Given the description of an element on the screen output the (x, y) to click on. 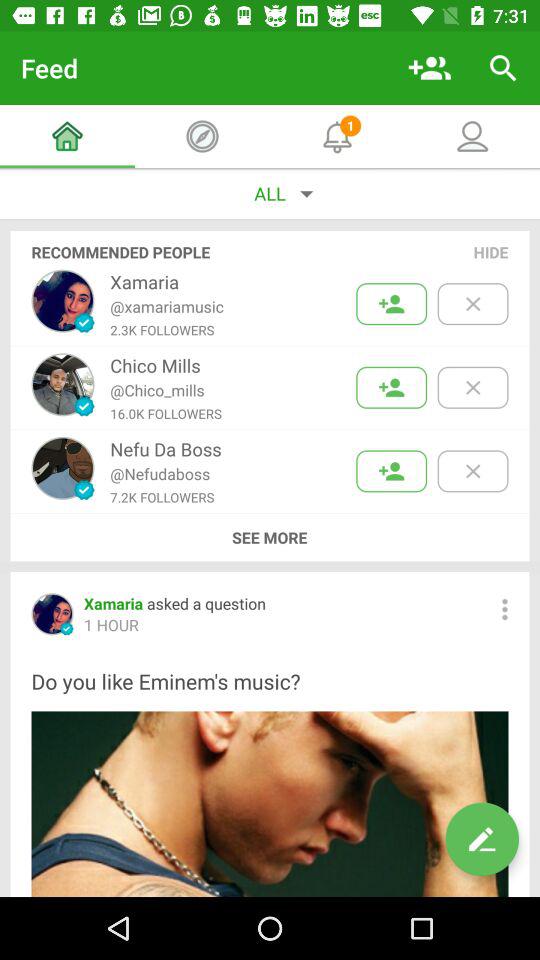
hamburger button for options (504, 609)
